Given the description of an element on the screen output the (x, y) to click on. 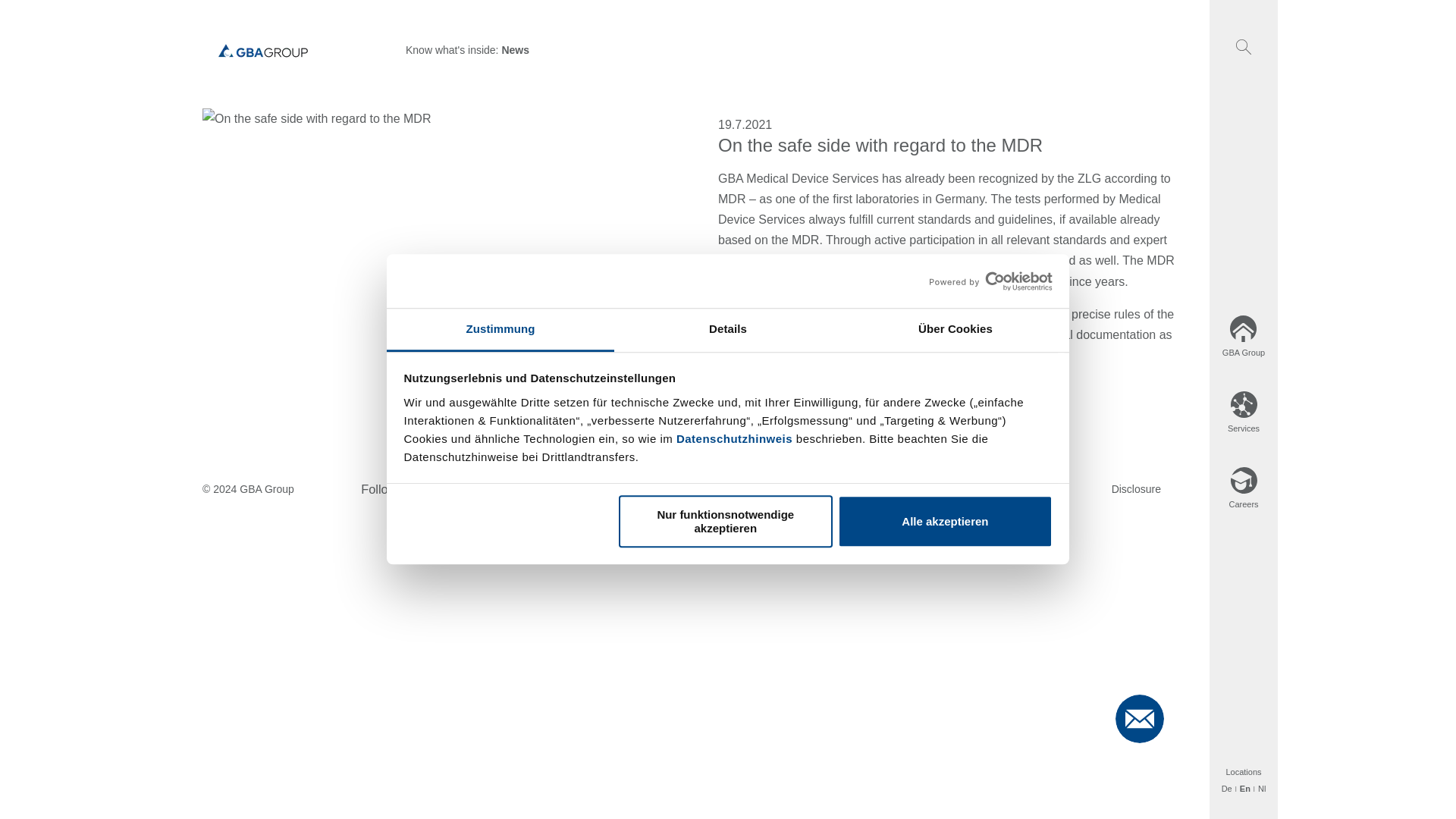
Details (727, 330)
Datenschutzhinweis (734, 438)
Nur funktionsnotwendige akzeptieren (725, 521)
Alle akzeptieren (944, 521)
Zustimmung (500, 330)
